Given the description of an element on the screen output the (x, y) to click on. 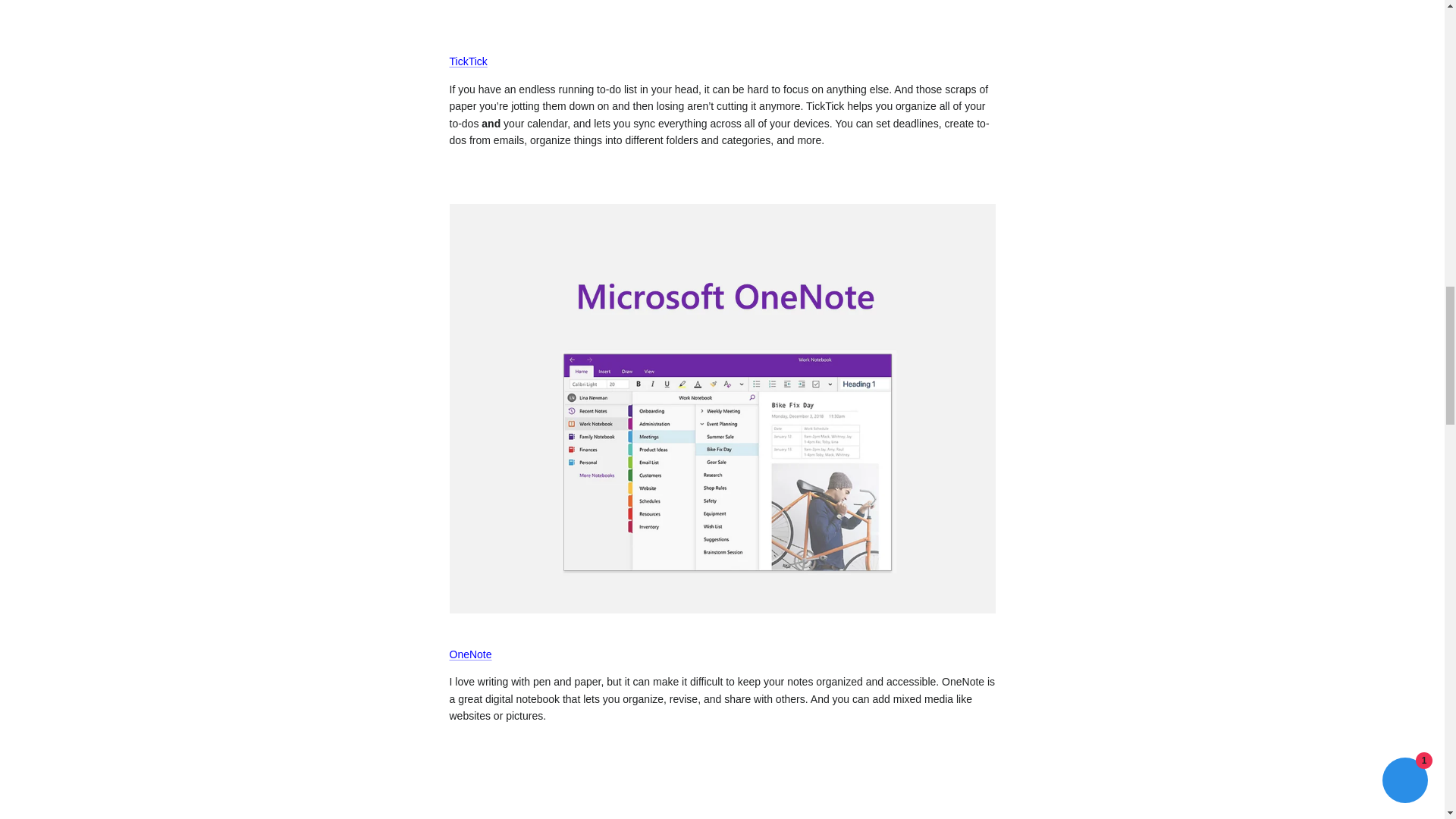
Microsoft OneNote (470, 654)
TickTick (721, 17)
TickTick (467, 61)
Microsoft OneNote (721, 609)
